Given the description of an element on the screen output the (x, y) to click on. 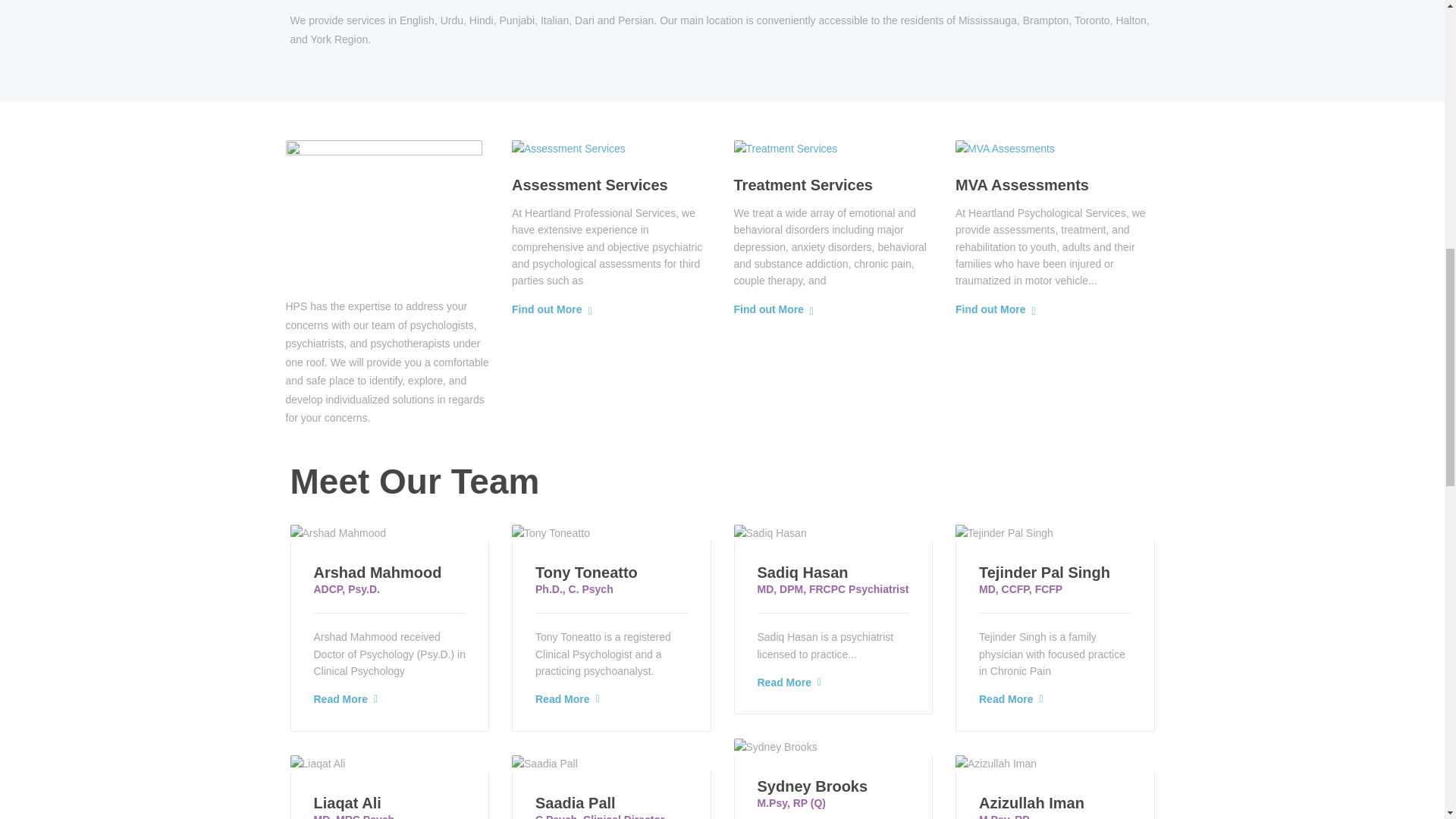
Liaqat Ali (347, 802)
Find out More (769, 309)
Find out More (547, 309)
Assessment Services (590, 184)
Arshad Mahmood (378, 572)
Find out More (990, 309)
MVA Assessments (1022, 184)
Read More (341, 699)
Treatment Services (802, 184)
